Given the description of an element on the screen output the (x, y) to click on. 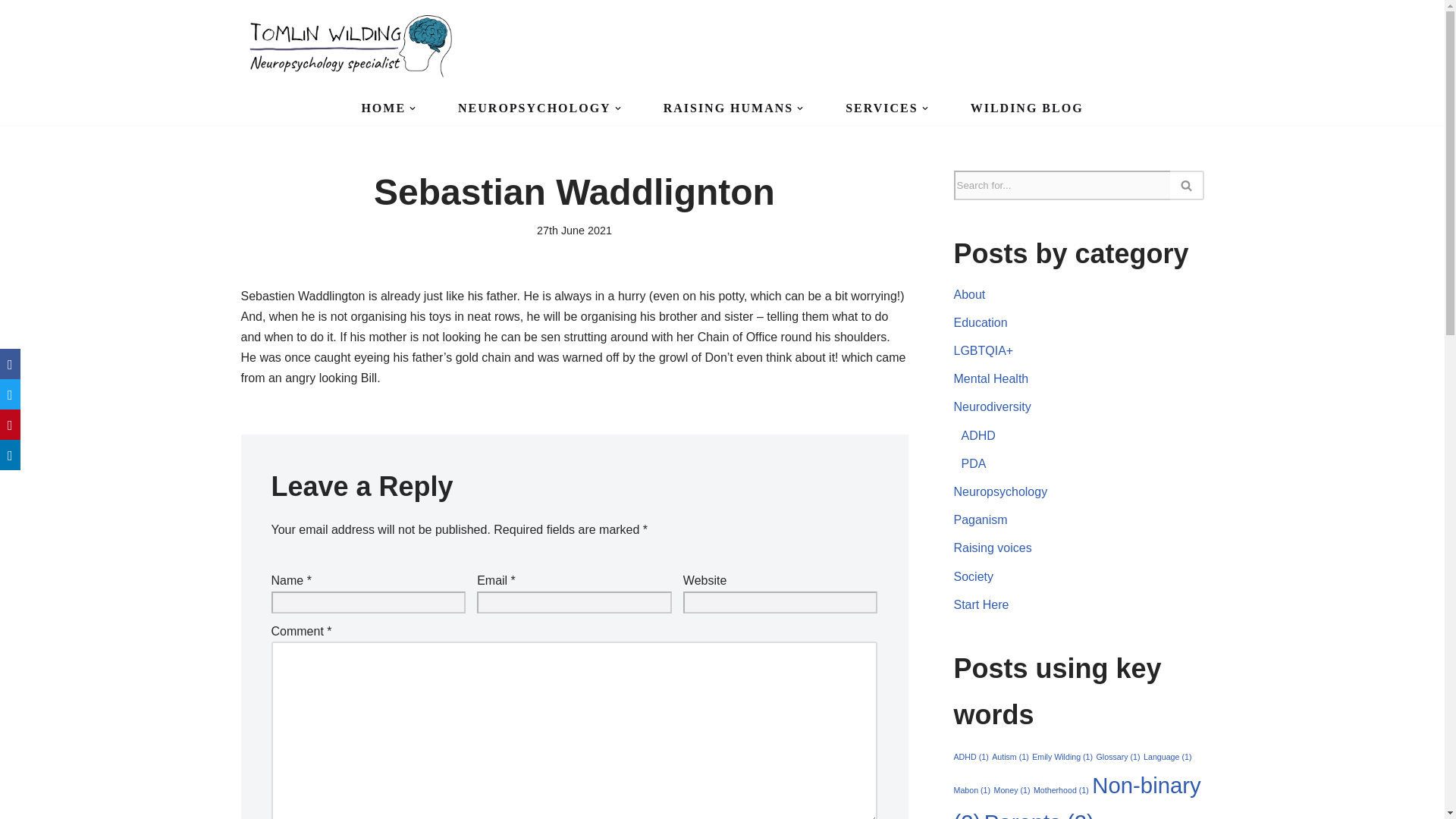
Skip to content (11, 31)
RAISING HUMANS (728, 107)
WILDING BLOG (1027, 107)
NEUROPSYCHOLOGY (534, 107)
HOME (383, 107)
SERVICES (881, 107)
Tomlin Wilding (354, 45)
